Given the description of an element on the screen output the (x, y) to click on. 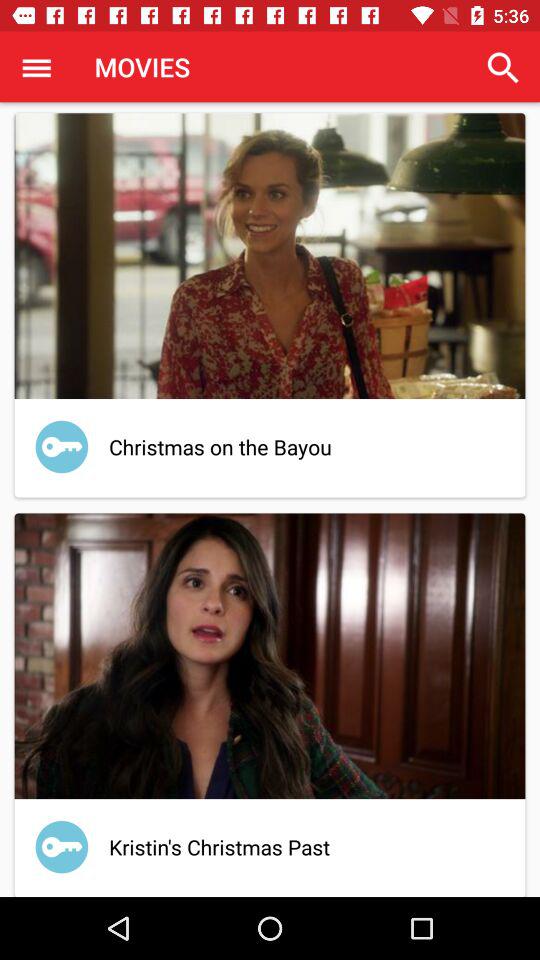
launch item at the top right corner (503, 67)
